Given the description of an element on the screen output the (x, y) to click on. 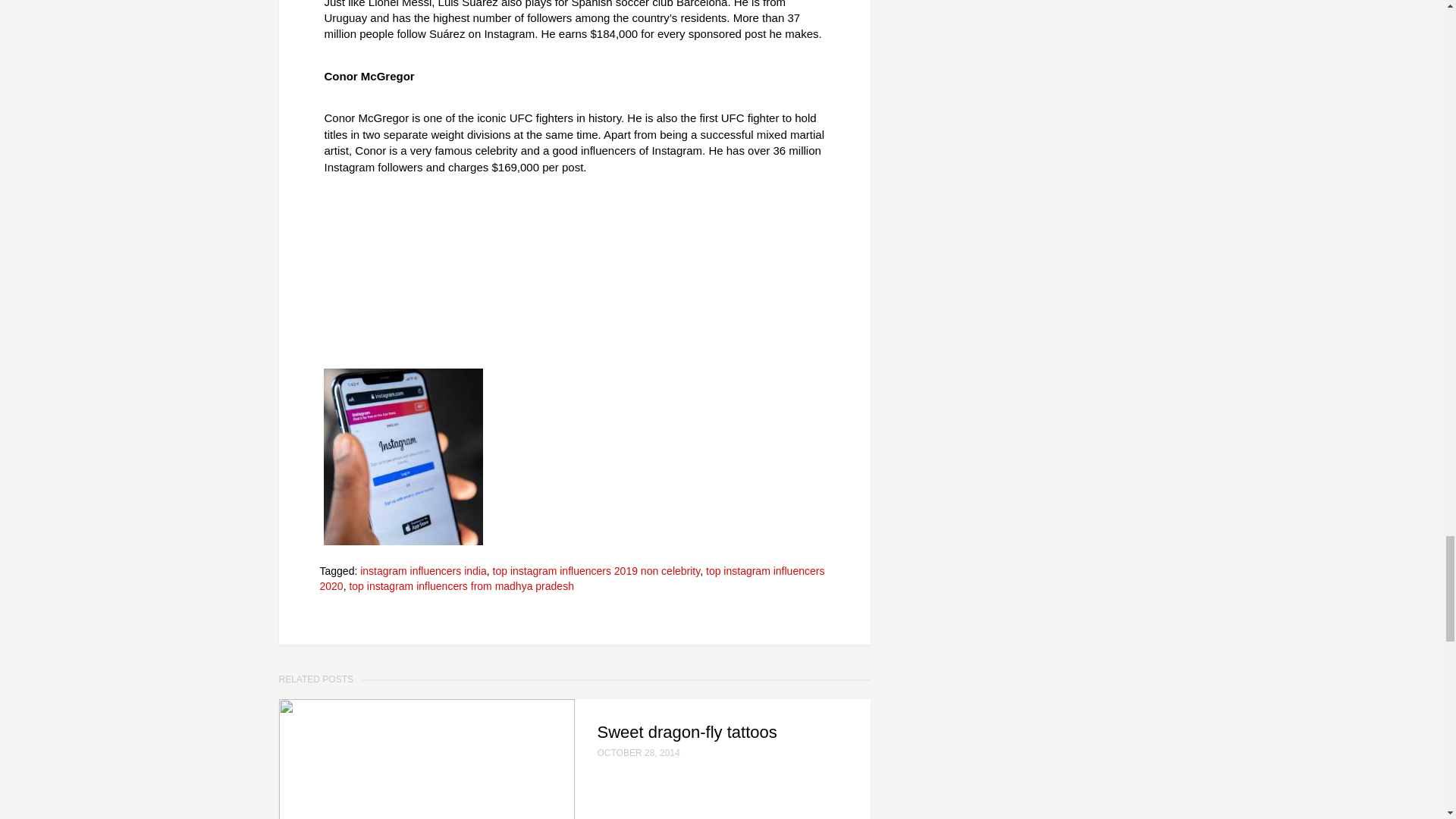
top instagram influencers from madhya pradesh (461, 585)
How Much Money Do They Earn (403, 455)
top instagram influencers 2020 (572, 578)
instagram influencers india (422, 571)
top instagram influencers 2019 non celebrity (596, 571)
Sweet dragon-fly tattoos (723, 731)
